Given the description of an element on the screen output the (x, y) to click on. 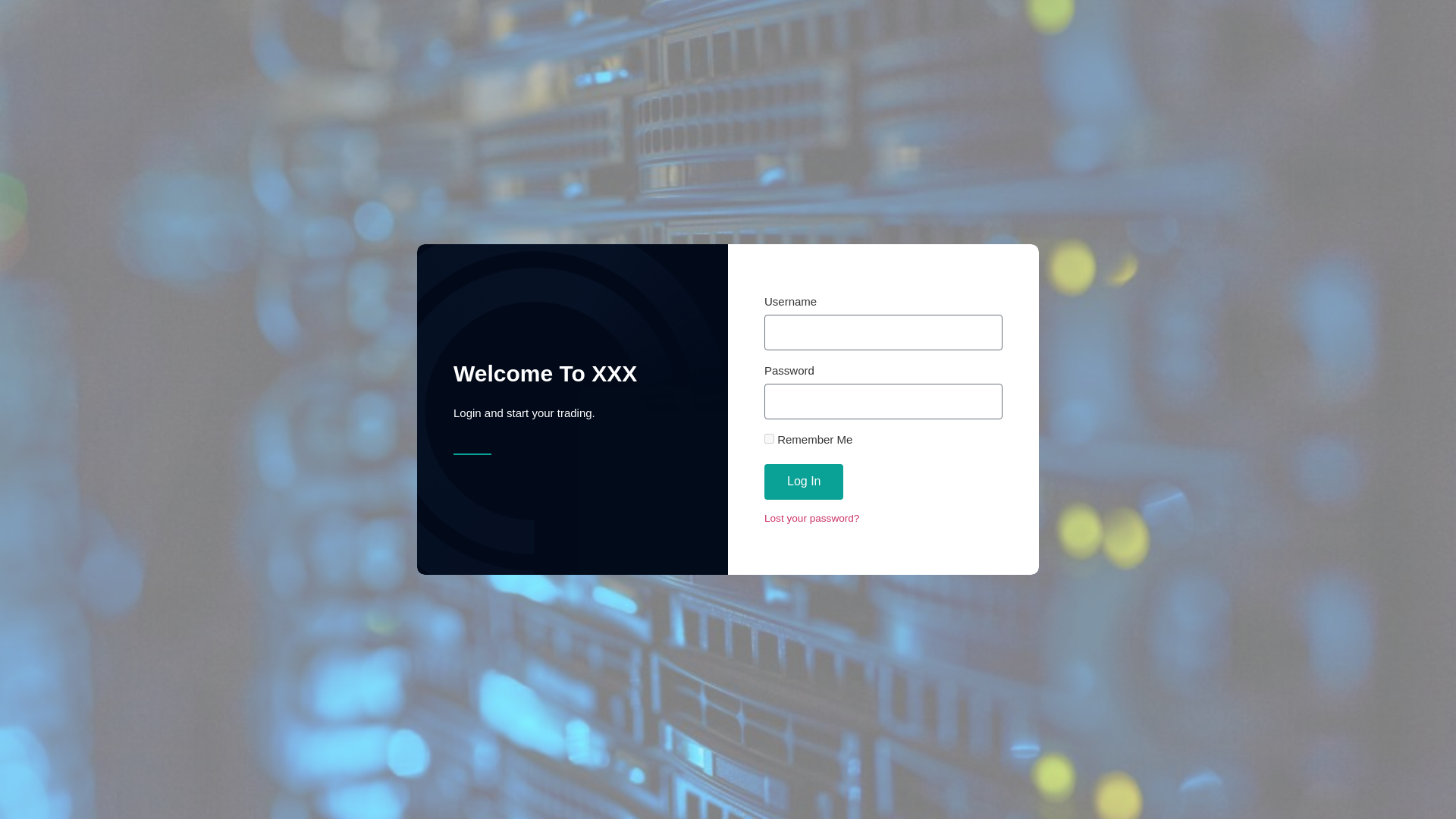
Lost your password? (811, 518)
Log In (803, 481)
forever (769, 438)
